Given the description of an element on the screen output the (x, y) to click on. 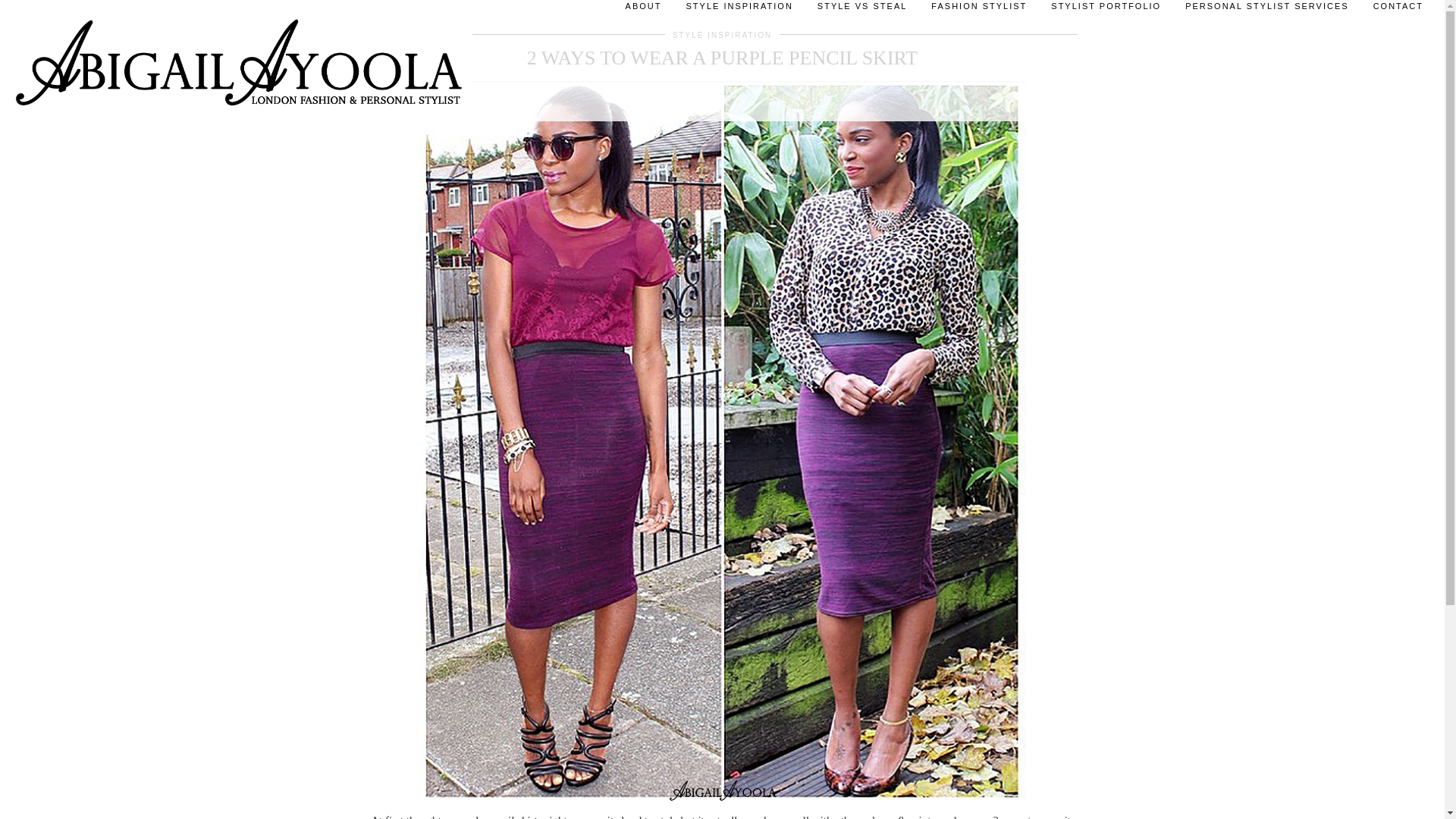
CONTACT (1398, 10)
STYLE VS STEAL (861, 10)
PERSONAL STYLIST SERVICES (1266, 10)
ABOUT (643, 10)
FASHION STYLIST (978, 10)
STYLIST PORTFOLIO (1106, 10)
STYLE INSPIRATION (738, 10)
STYLE INSPIRATION (722, 35)
